Given the description of an element on the screen output the (x, y) to click on. 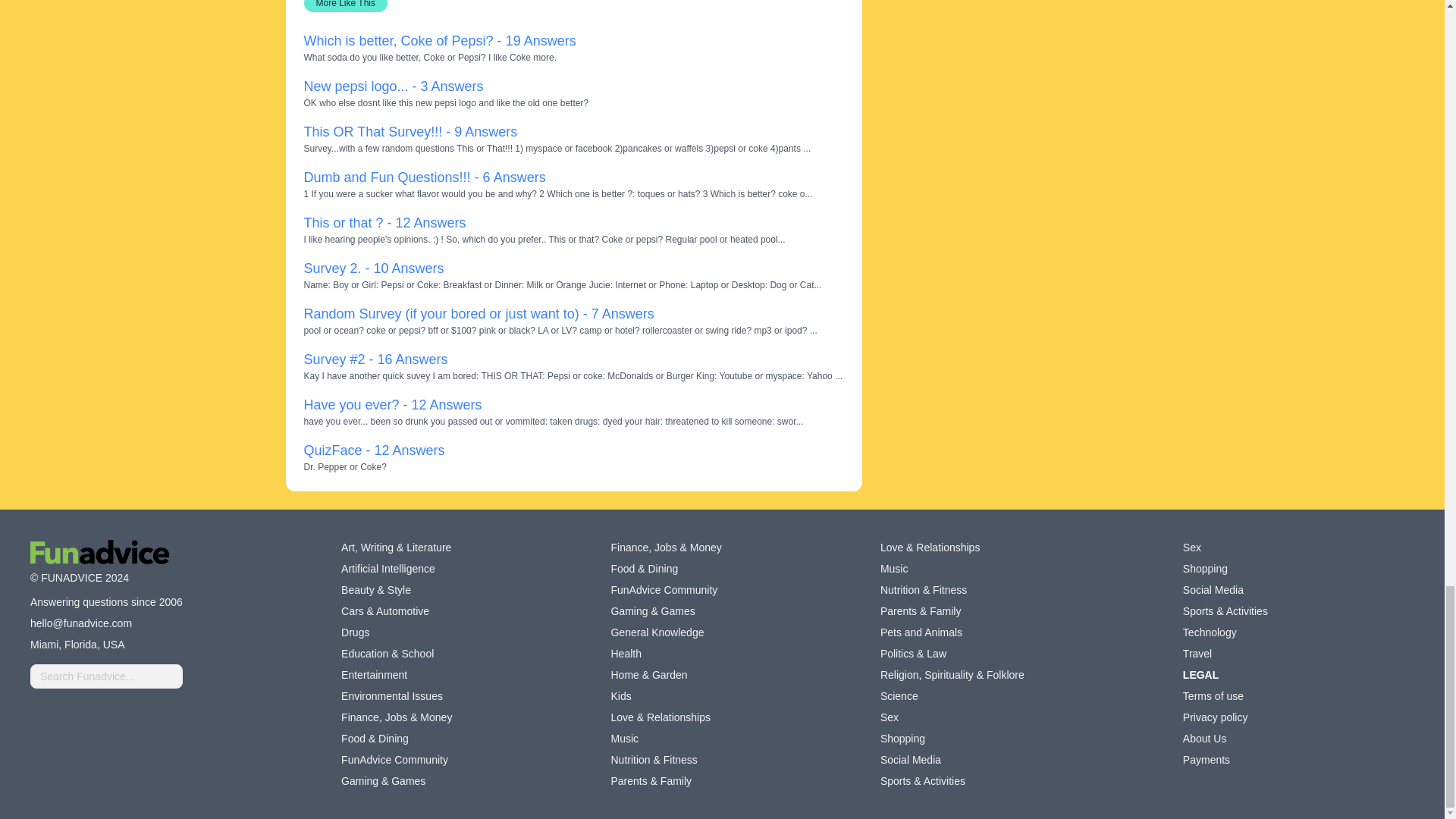
Have you ever? - 12 Answers (391, 404)
General Knowledge (656, 631)
FunAdvice Community (394, 759)
This OR That Survey!!! - 9 Answers (409, 131)
Dumb and Fun Questions!!! - 6 Answers (423, 177)
Which is better, Coke of Pepsi? - 19 Answers (438, 40)
Drugs (354, 631)
QuizFace - 12 Answers (373, 450)
Artificial Intelligence (387, 568)
FunAdvice Community (663, 589)
Entertainment (373, 674)
Environmental Issues (391, 695)
This or that ? - 12 Answers (383, 222)
New pepsi logo... - 3 Answers (392, 86)
Health (625, 653)
